Given the description of an element on the screen output the (x, y) to click on. 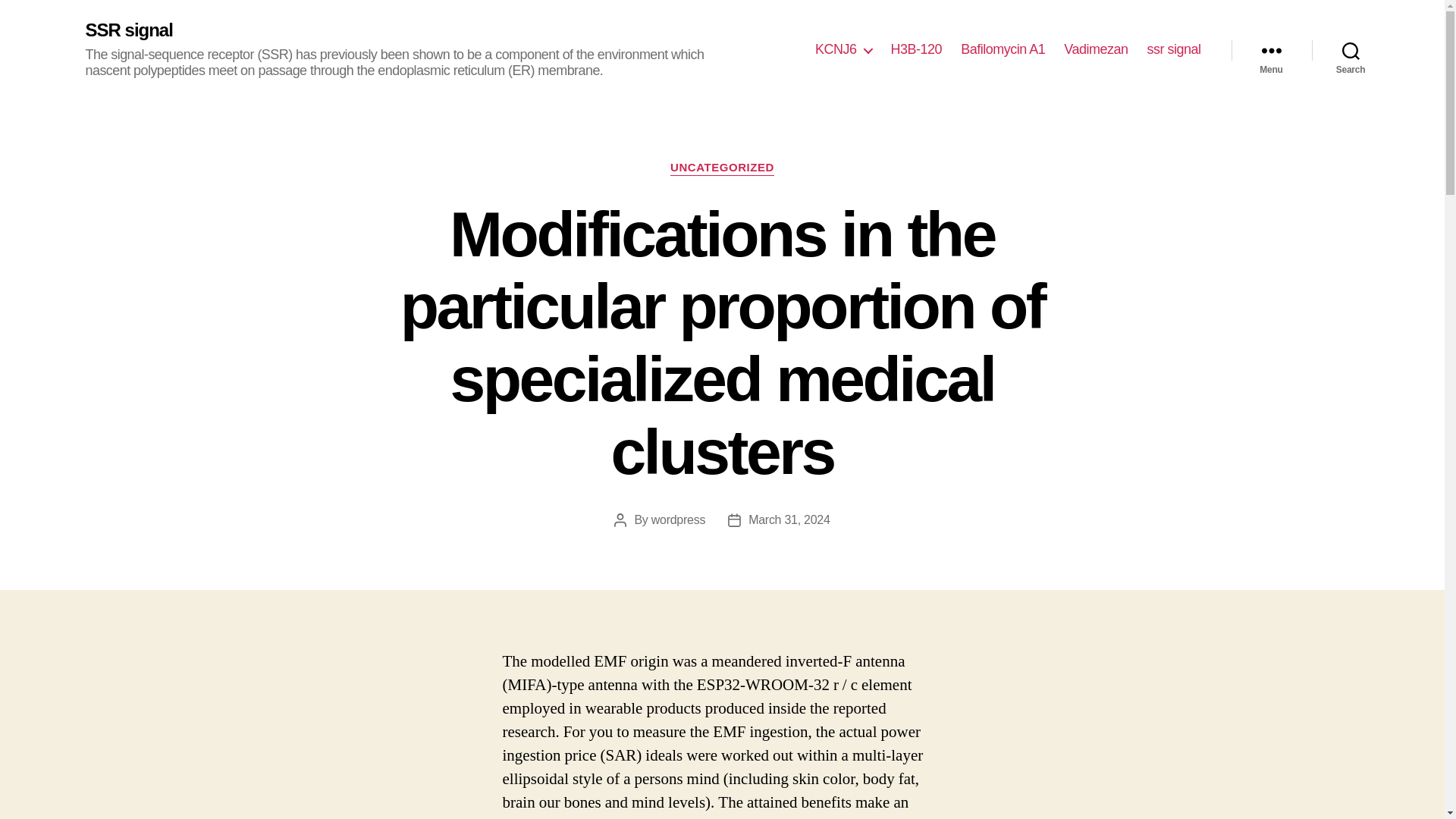
ssr signal (1173, 49)
KCNJ6 (843, 49)
SSR signal (127, 30)
Bafilomycin A1 (1002, 49)
Menu (1271, 49)
Search (1350, 49)
Vadimezan (1095, 49)
H3B-120 (916, 49)
